Given the description of an element on the screen output the (x, y) to click on. 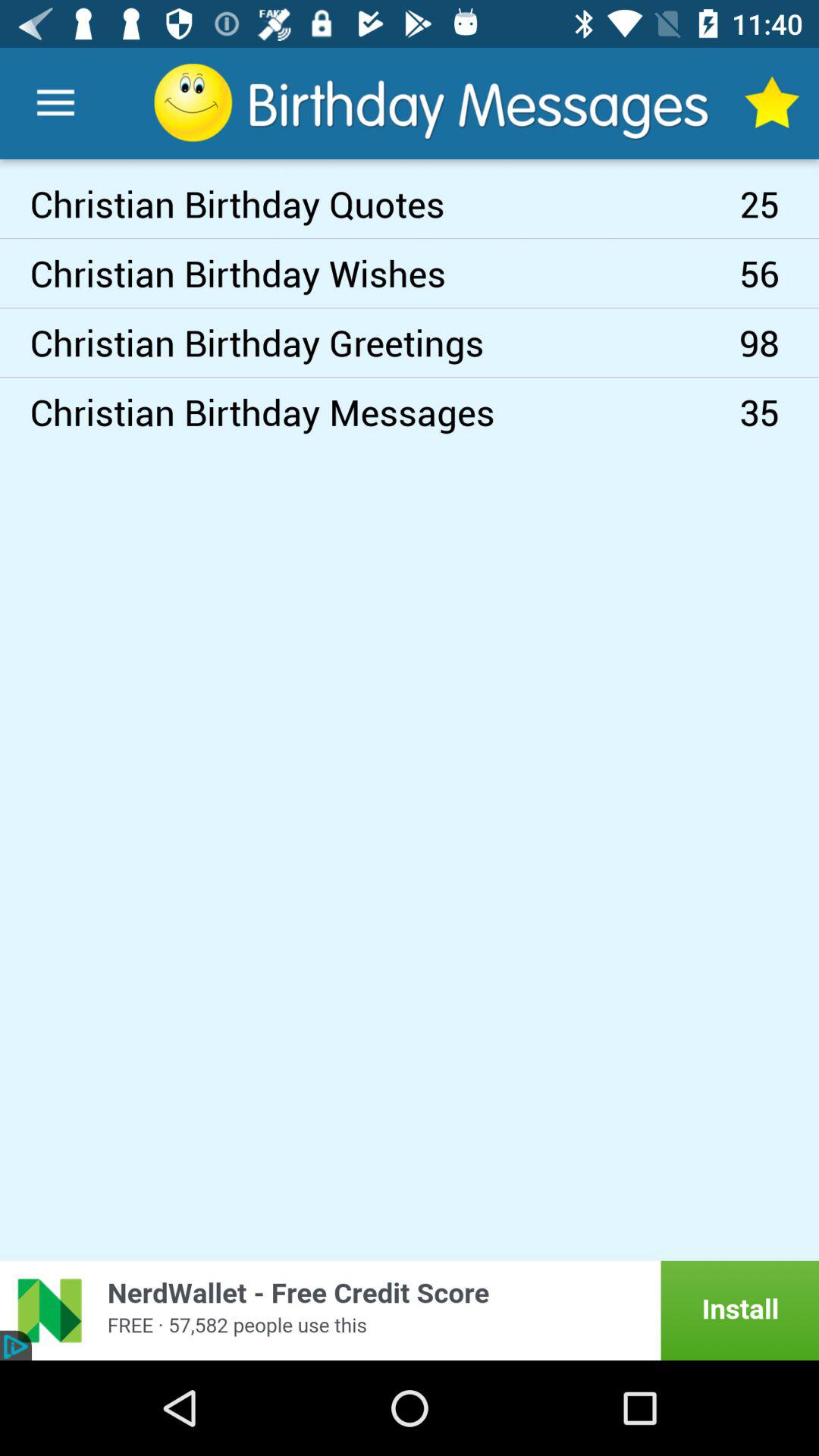
select the star icon which is above 25 (771, 103)
select birthday messages at the top of the page (433, 102)
